Given the description of an element on the screen output the (x, y) to click on. 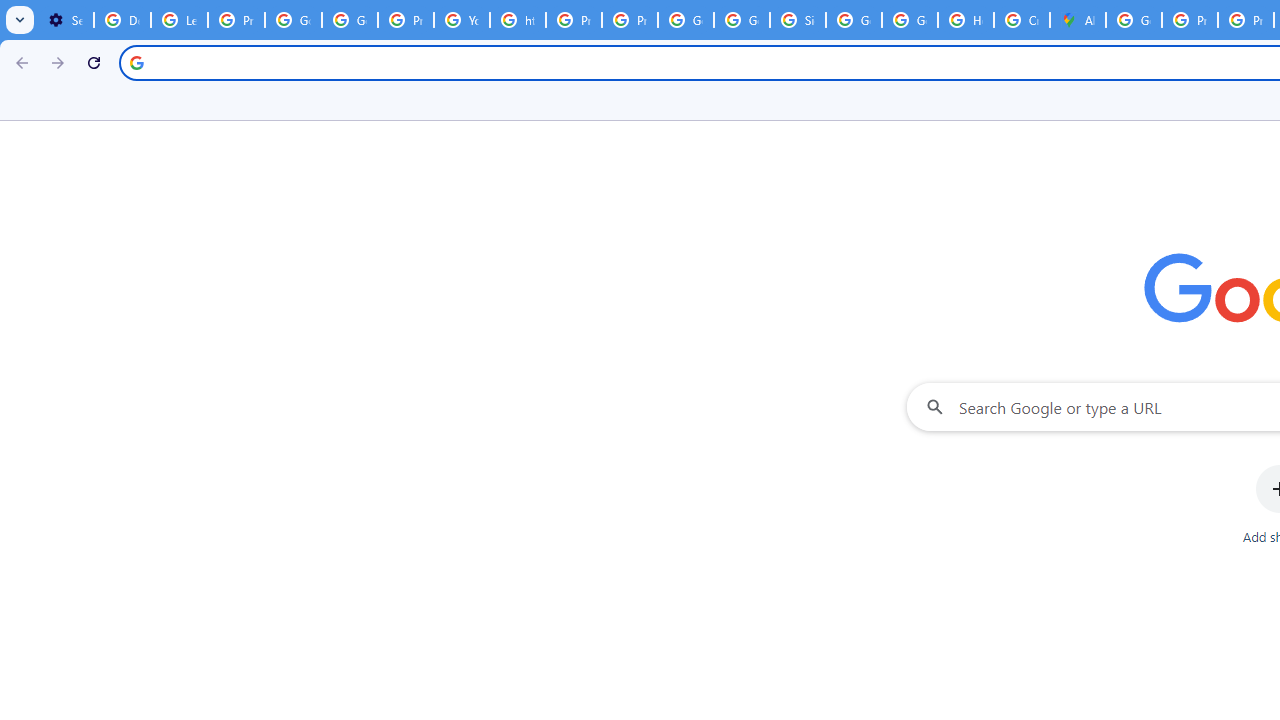
YouTube (461, 20)
Create your Google Account (1021, 20)
Privacy Help Center - Policies Help (573, 20)
